Given the description of an element on the screen output the (x, y) to click on. 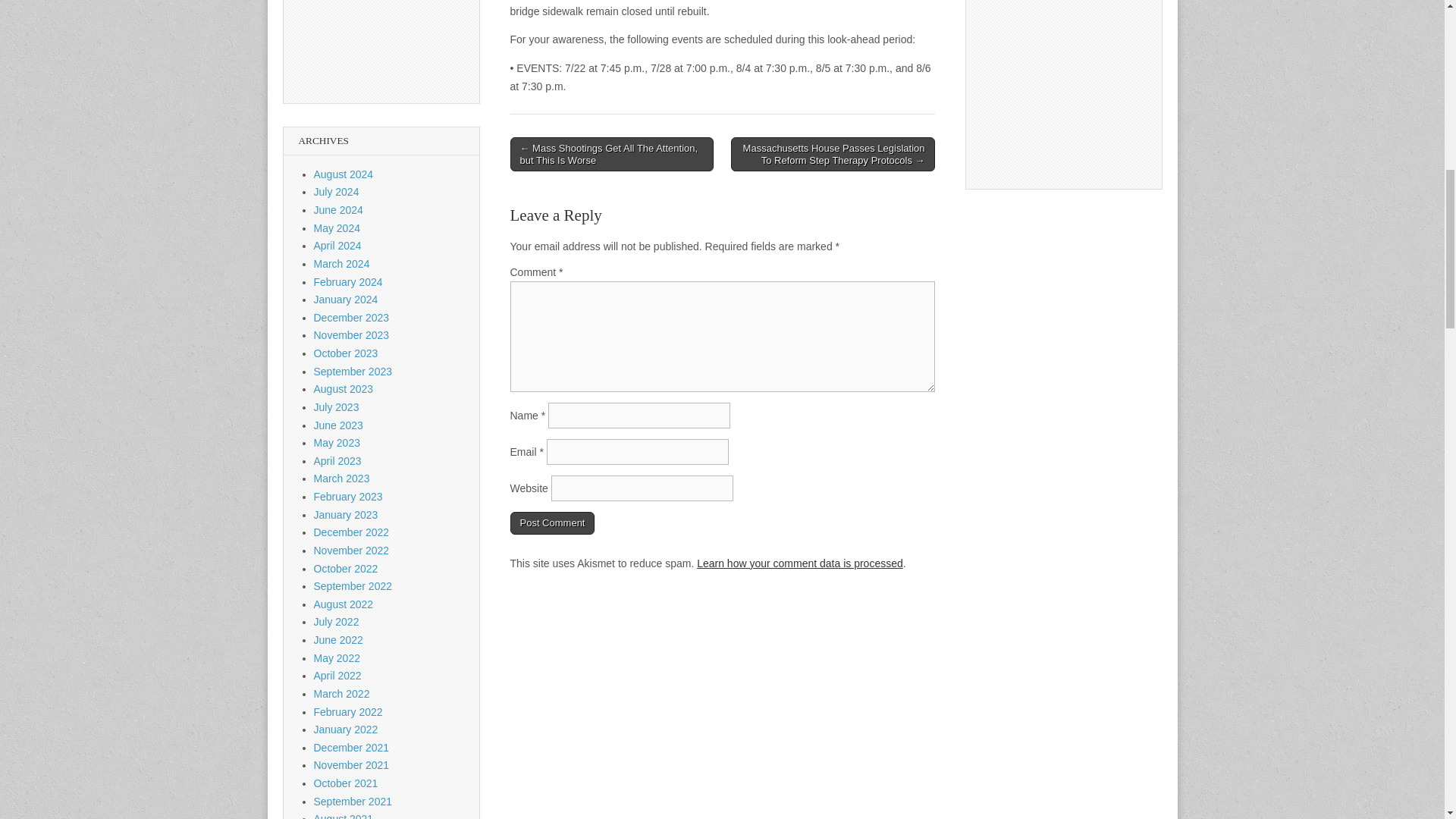
August 2024 (344, 174)
March 2024 (341, 263)
May 2024 (336, 227)
February 2024 (348, 282)
April 2024 (337, 245)
July 2024 (336, 191)
Post Comment (551, 522)
June 2024 (338, 209)
January 2024 (346, 299)
Post Comment (551, 522)
Learn how your comment data is processed (799, 563)
